Given the description of an element on the screen output the (x, y) to click on. 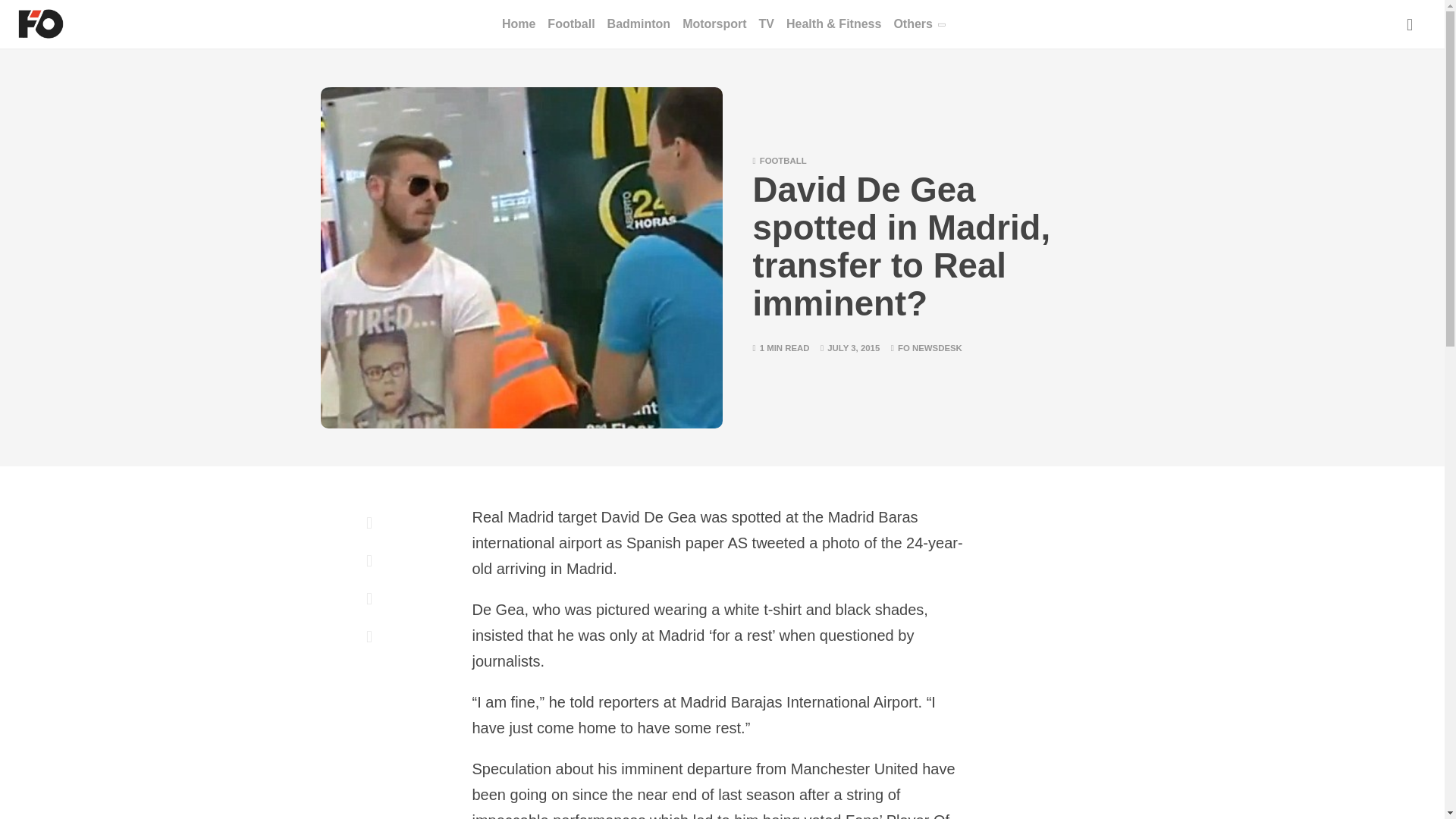
Motorsport (713, 24)
FOOTBALL (783, 160)
Badminton (639, 24)
FO NEWSDESK (930, 347)
Football (570, 24)
Posts by FO Newsdesk (930, 347)
Others (917, 24)
